Given the description of an element on the screen output the (x, y) to click on. 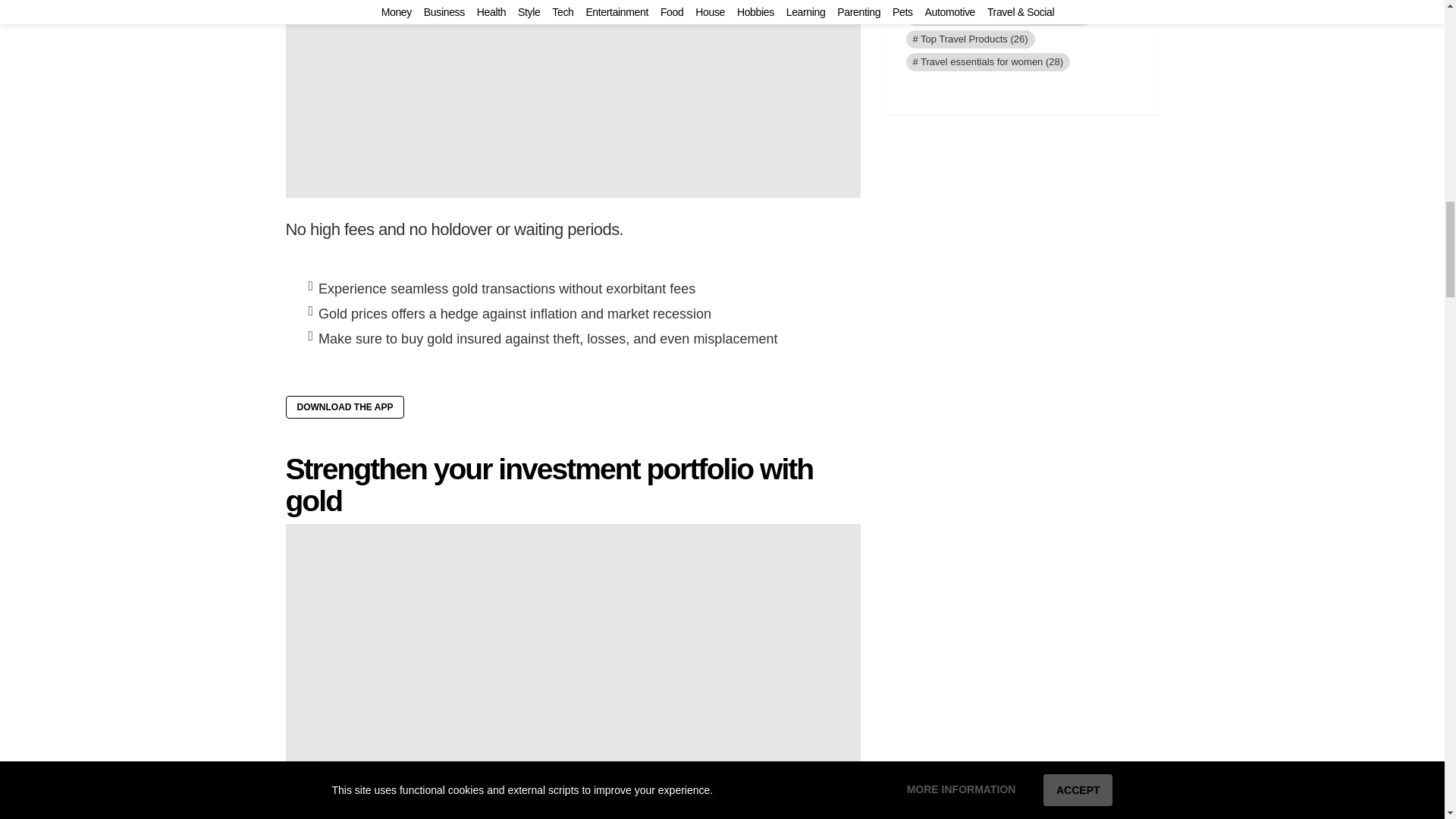
Strengthen your investment portfolio with gold (548, 484)
DOWNLOAD THE APP (344, 406)
